Given the description of an element on the screen output the (x, y) to click on. 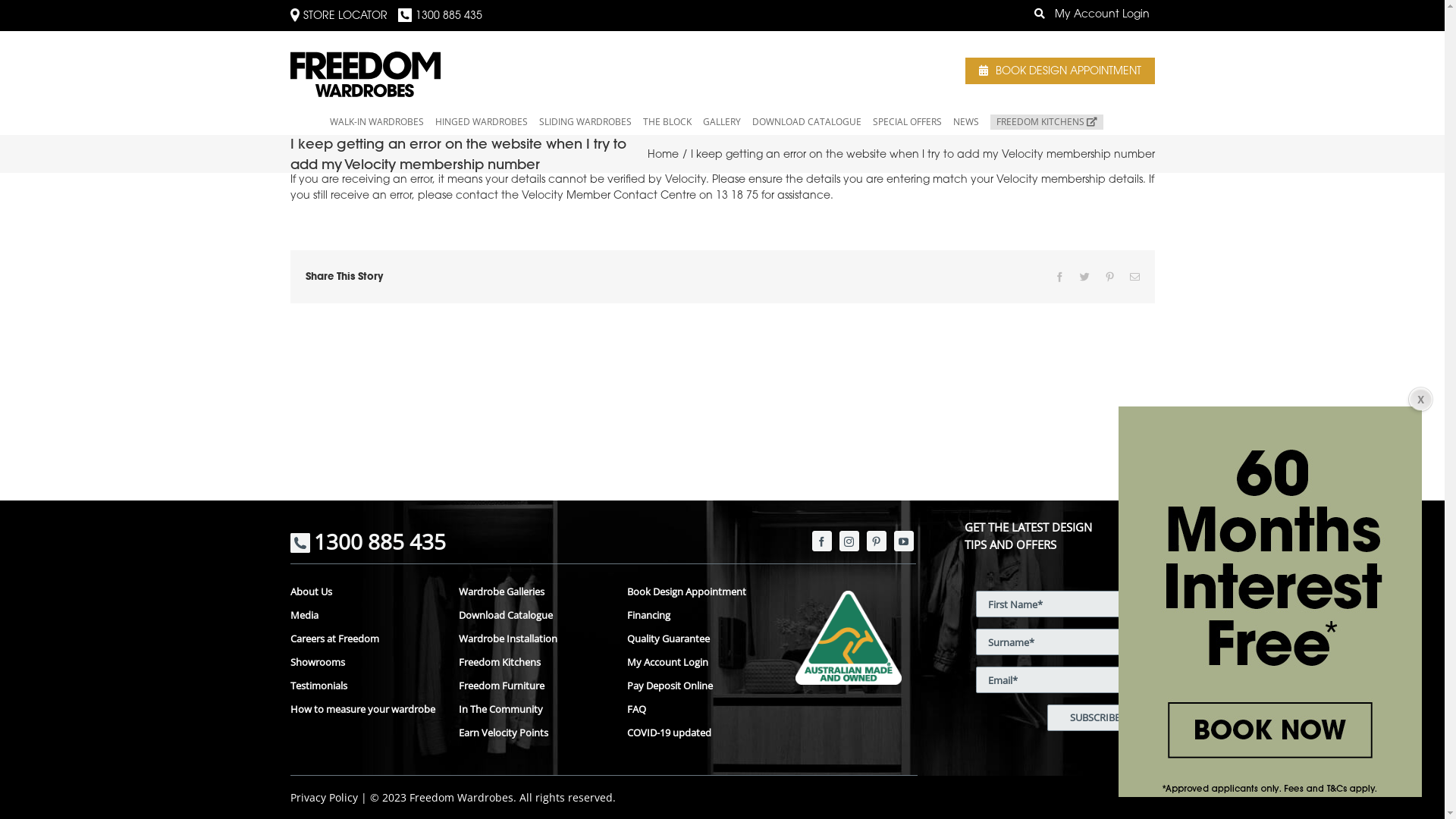
Financing Element type: text (699, 615)
Twitter Element type: text (1084, 276)
Media Element type: text (361, 615)
1300 885 435 Element type: text (367, 547)
Earn Velocity Points Element type: text (530, 732)
Wardrobe Installation Element type: text (530, 638)
SLIDING WARDROBES Element type: text (585, 121)
Pinterest Element type: text (1108, 276)
Privacy Policy Element type: text (323, 797)
About Us Element type: text (361, 591)
Showrooms Element type: text (361, 662)
Book Design Appointment Element type: text (699, 591)
BOOK DESIGN APPOINTMENT Element type: text (1059, 70)
Wardrobe Galleries Element type: text (530, 591)
Download Catalogue Element type: text (530, 615)
COVID-19 updated Element type: text (699, 732)
Testimonials Element type: text (361, 685)
FAQ Element type: text (699, 709)
SUBSCRIBE Element type: text (1094, 717)
Quality Guarantee Element type: text (699, 638)
SPECIAL OFFERS Element type: text (906, 121)
Careers at Freedom Element type: text (361, 638)
My Account Login Element type: text (699, 662)
How to measure your wardrobe Element type: text (361, 709)
Facebook Element type: text (1058, 276)
STORE LOCATOR Element type: text (343, 16)
NEWS Element type: text (966, 121)
THE BLOCK Element type: text (667, 121)
GALLERY Element type: text (721, 121)
Home Element type: text (662, 155)
WALK-IN WARDROBES Element type: text (376, 121)
Freedom Furniture Element type: text (530, 685)
Email Element type: text (1134, 276)
In The Community Element type: text (530, 709)
Pay Deposit Online Element type: text (699, 685)
My Account Login Element type: text (1101, 14)
FREEDOM KITCHENS Element type: text (1046, 121)
DOWNLOAD CATALOGUE Element type: text (806, 121)
Freedom Kitchens Element type: text (530, 662)
HINGED WARDROBES Element type: text (481, 121)
1300 885 435 Element type: text (444, 16)
